Given the description of an element on the screen output the (x, y) to click on. 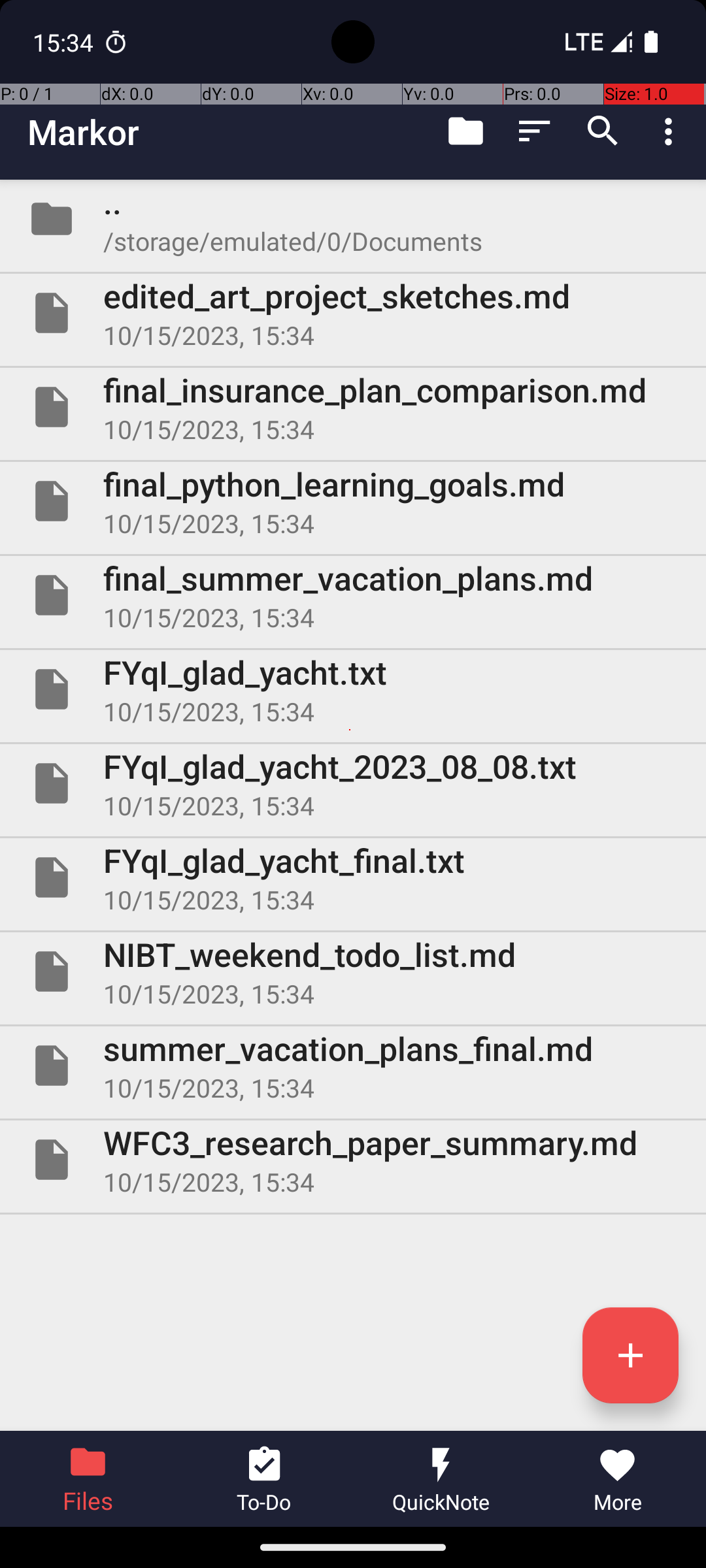
File edited_art_project_sketches.md  Element type: android.widget.LinearLayout (353, 312)
File final_insurance_plan_comparison.md  Element type: android.widget.LinearLayout (353, 406)
File final_python_learning_goals.md  Element type: android.widget.LinearLayout (353, 500)
File final_summer_vacation_plans.md  Element type: android.widget.LinearLayout (353, 594)
File FYqI_glad_yacht.txt  Element type: android.widget.LinearLayout (353, 689)
File FYqI_glad_yacht_2023_08_08.txt  Element type: android.widget.LinearLayout (353, 783)
File FYqI_glad_yacht_final.txt  Element type: android.widget.LinearLayout (353, 877)
File NIBT_weekend_todo_list.md  Element type: android.widget.LinearLayout (353, 971)
File summer_vacation_plans_final.md  Element type: android.widget.LinearLayout (353, 1065)
File WFC3_research_paper_summary.md  Element type: android.widget.LinearLayout (353, 1159)
